Given the description of an element on the screen output the (x, y) to click on. 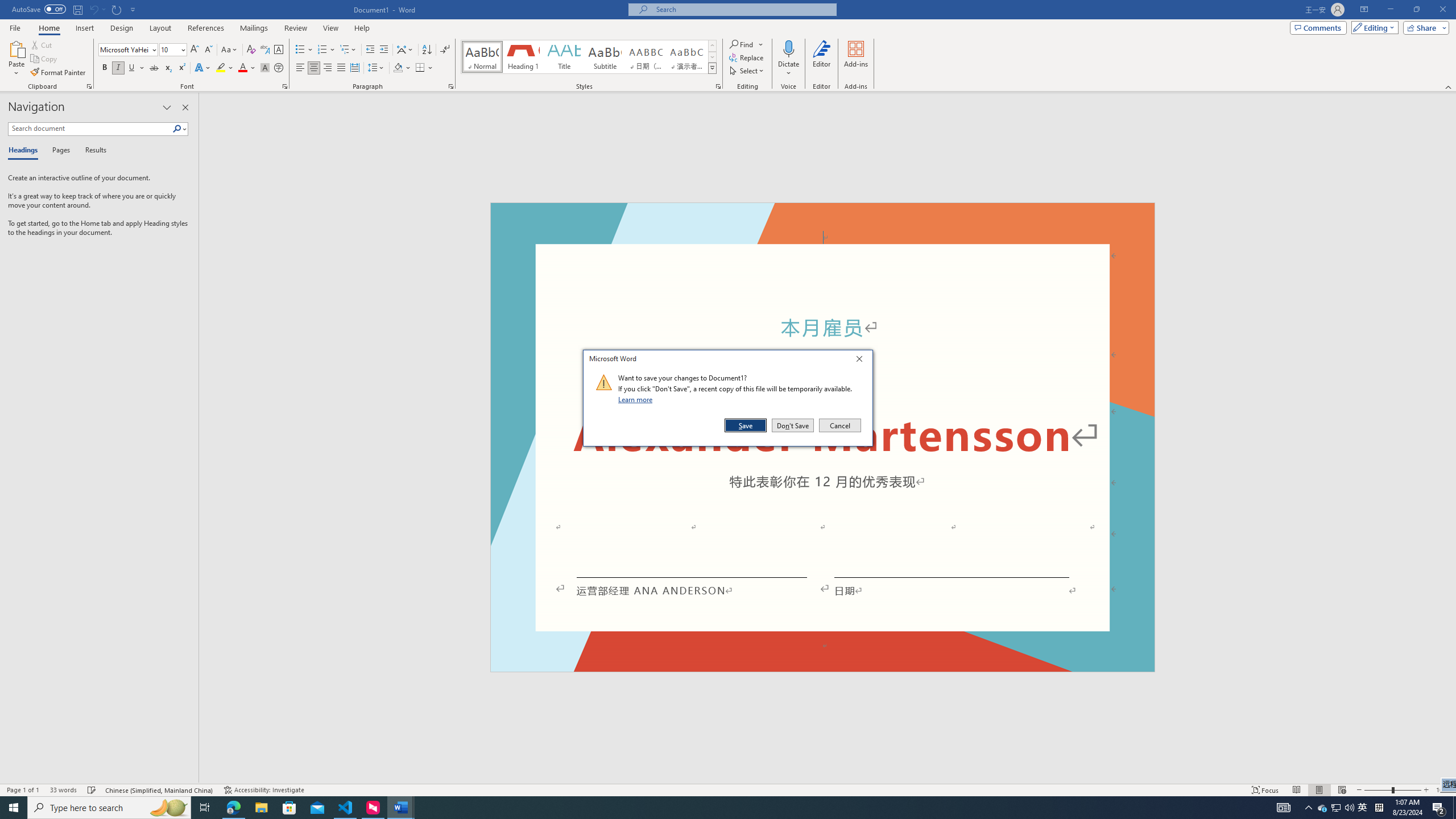
Page Number Page 1 of 1 (22, 790)
Select (747, 69)
Type here to search (108, 807)
Microsoft search (742, 9)
